Given the description of an element on the screen output the (x, y) to click on. 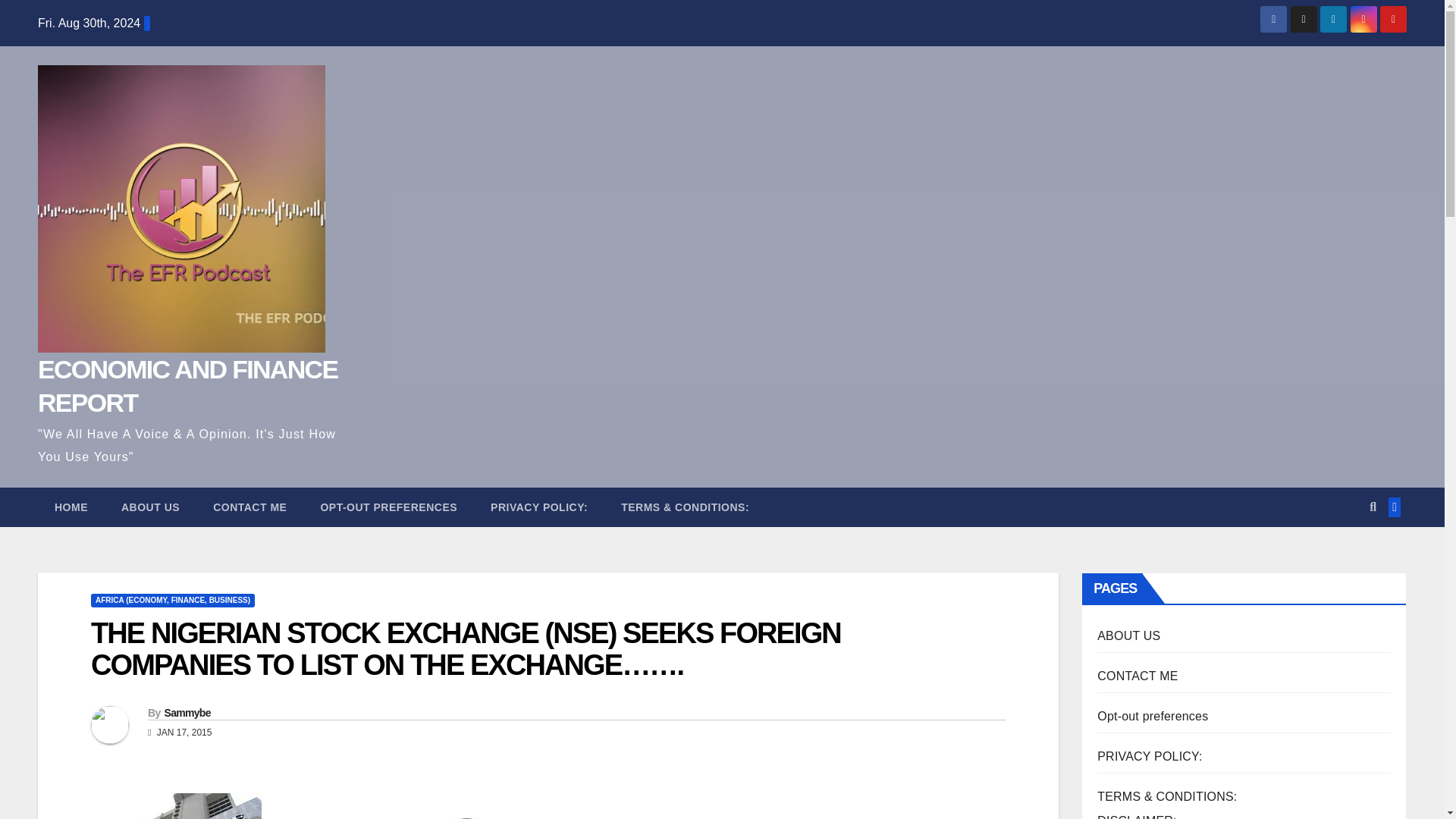
Home (70, 507)
ECONOMIC AND FINANCE REPORT (187, 385)
OPT-OUT PREFERENCES (388, 507)
PRIVACY POLICY: (539, 507)
CONTACT ME (249, 507)
ABOUT US (150, 507)
Sammybe (186, 712)
HOME (70, 507)
